Given the description of an element on the screen output the (x, y) to click on. 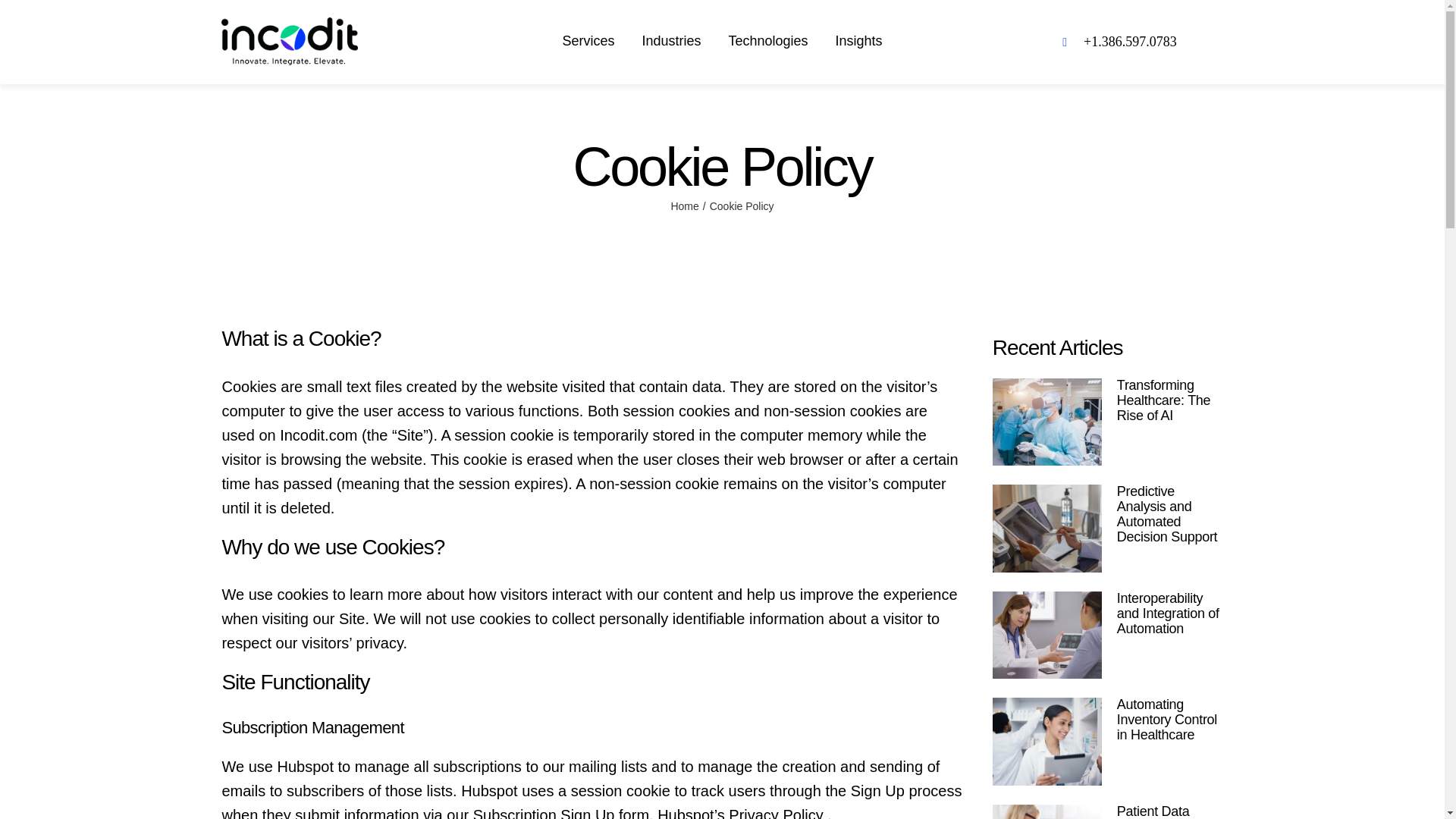
Automating Inventory Control in Healthcare (1166, 719)
Home (683, 205)
Patient Data Management Automation (1154, 811)
Technologies (767, 41)
Interoperability and Integration of Automation (1168, 613)
Insights (858, 41)
Transforming Healthcare: The Rise of AI (1162, 400)
Services (587, 41)
Predictive Analysis and Automated Decision Support (1166, 513)
Industries (670, 41)
